Given the description of an element on the screen output the (x, y) to click on. 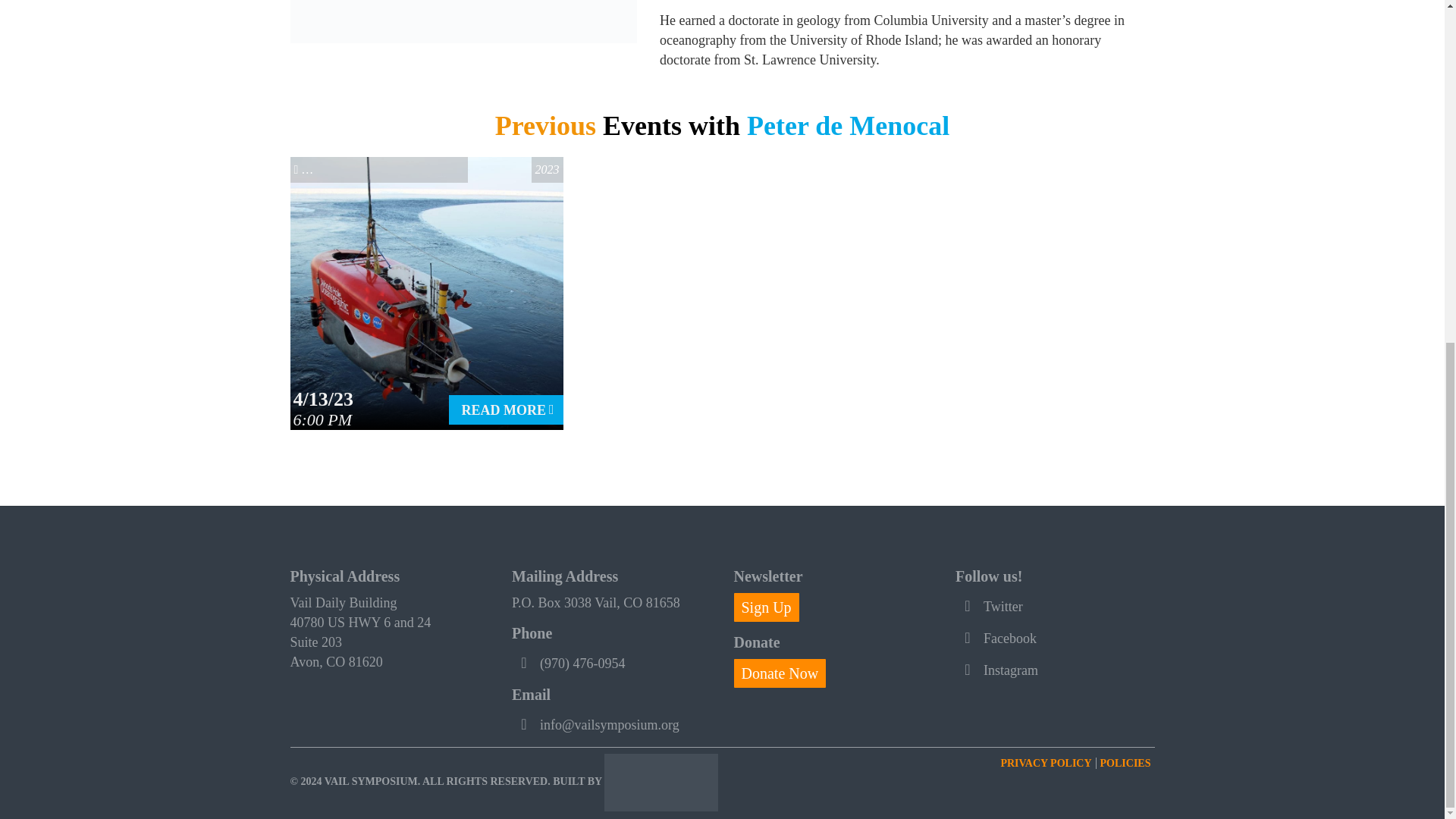
READ MORE (505, 409)
ENVIRONMENTAL AWARENESS (384, 169)
2023 (547, 169)
